Given the description of an element on the screen output the (x, y) to click on. 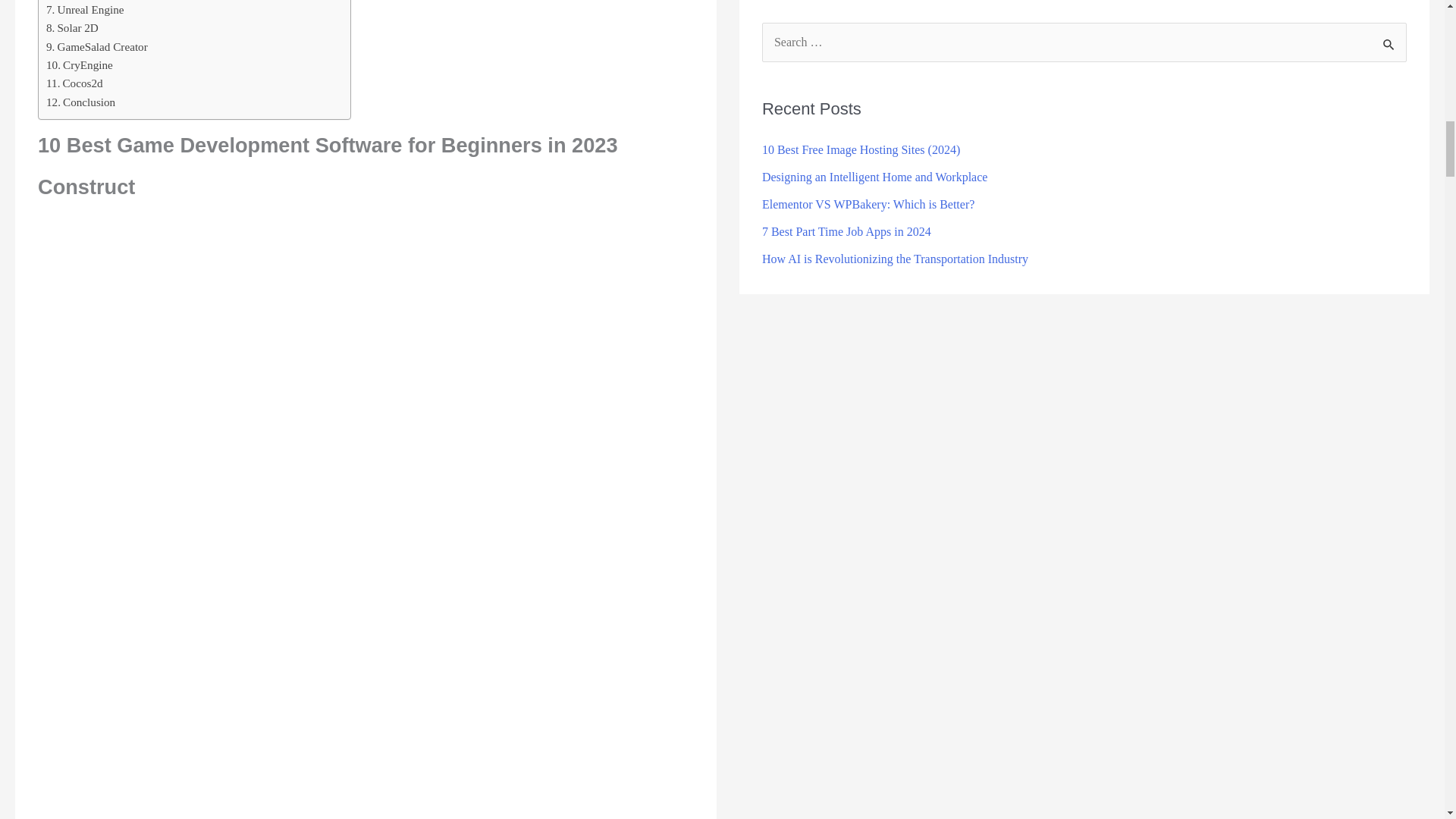
Unreal Engine (84, 9)
Cocos2d (74, 83)
GameSalad Creator (97, 46)
CryEngine (79, 65)
Solar 2D (72, 27)
